Given the description of an element on the screen output the (x, y) to click on. 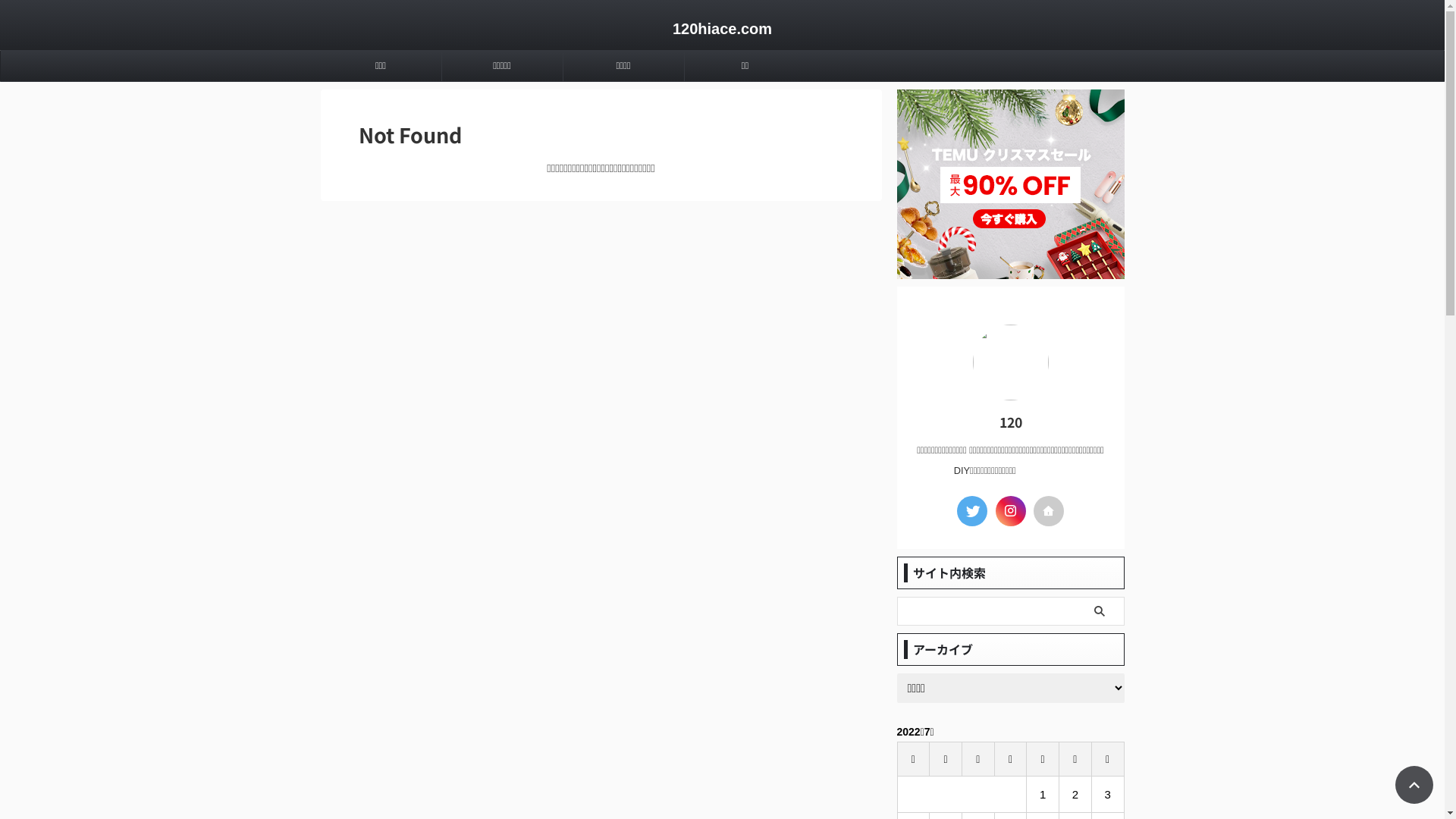
120hiace.com Element type: text (721, 28)
